Given the description of an element on the screen output the (x, y) to click on. 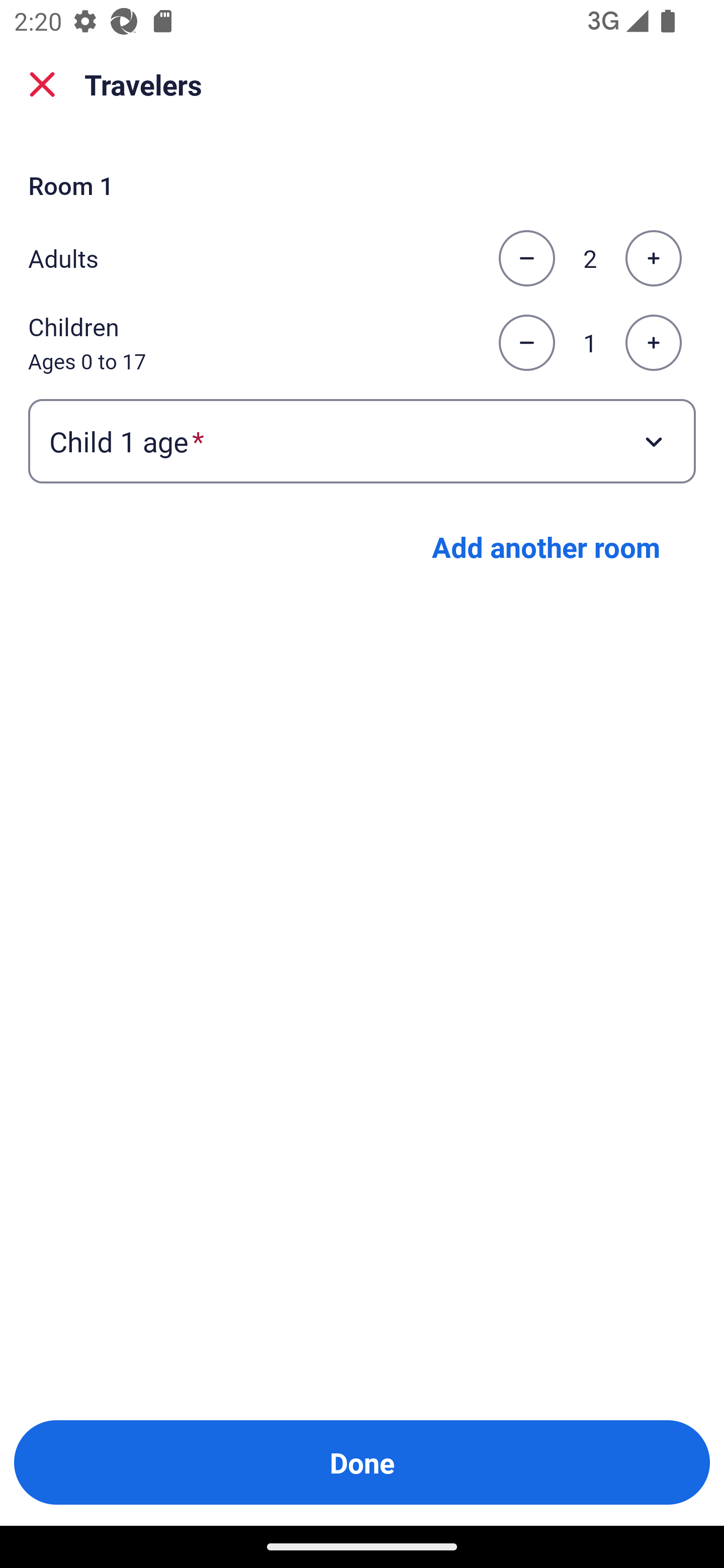
close (42, 84)
Decrease the number of adults (526, 258)
Increase the number of adults (653, 258)
Decrease the number of children (526, 343)
Increase the number of children (653, 343)
Child 1 age required Button (361, 440)
Add another room (545, 546)
Done (361, 1462)
